Given the description of an element on the screen output the (x, y) to click on. 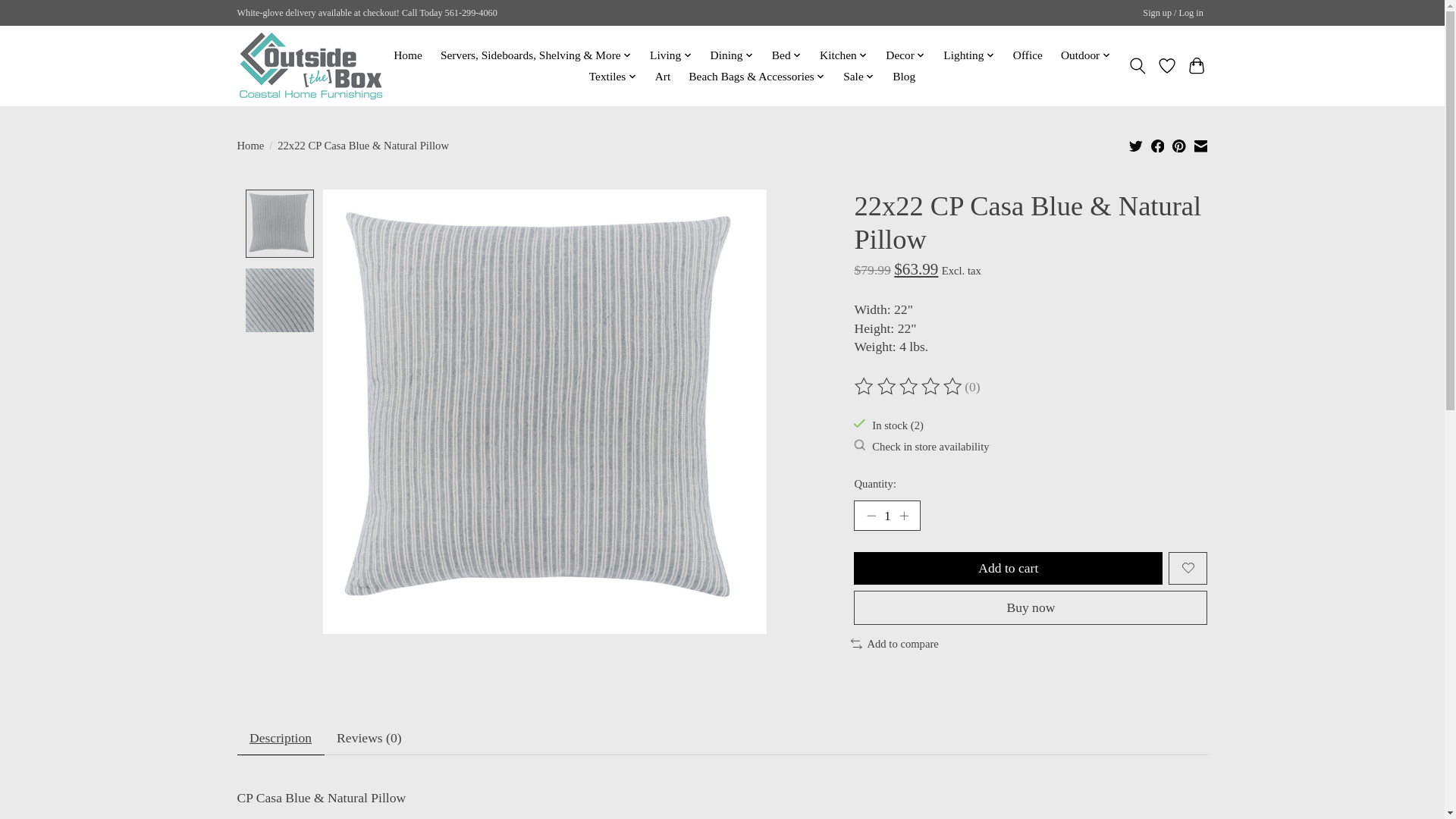
Bed (787, 55)
Dining (731, 55)
Home (408, 55)
Share on Twitter (1135, 146)
Kitchen (843, 55)
Share by Email (1200, 146)
Share on Pinterest (1178, 146)
1 (886, 515)
Living (671, 55)
Outside the Box Palm Beach  (309, 65)
Share on Facebook (1157, 146)
My account (1173, 13)
